Given the description of an element on the screen output the (x, y) to click on. 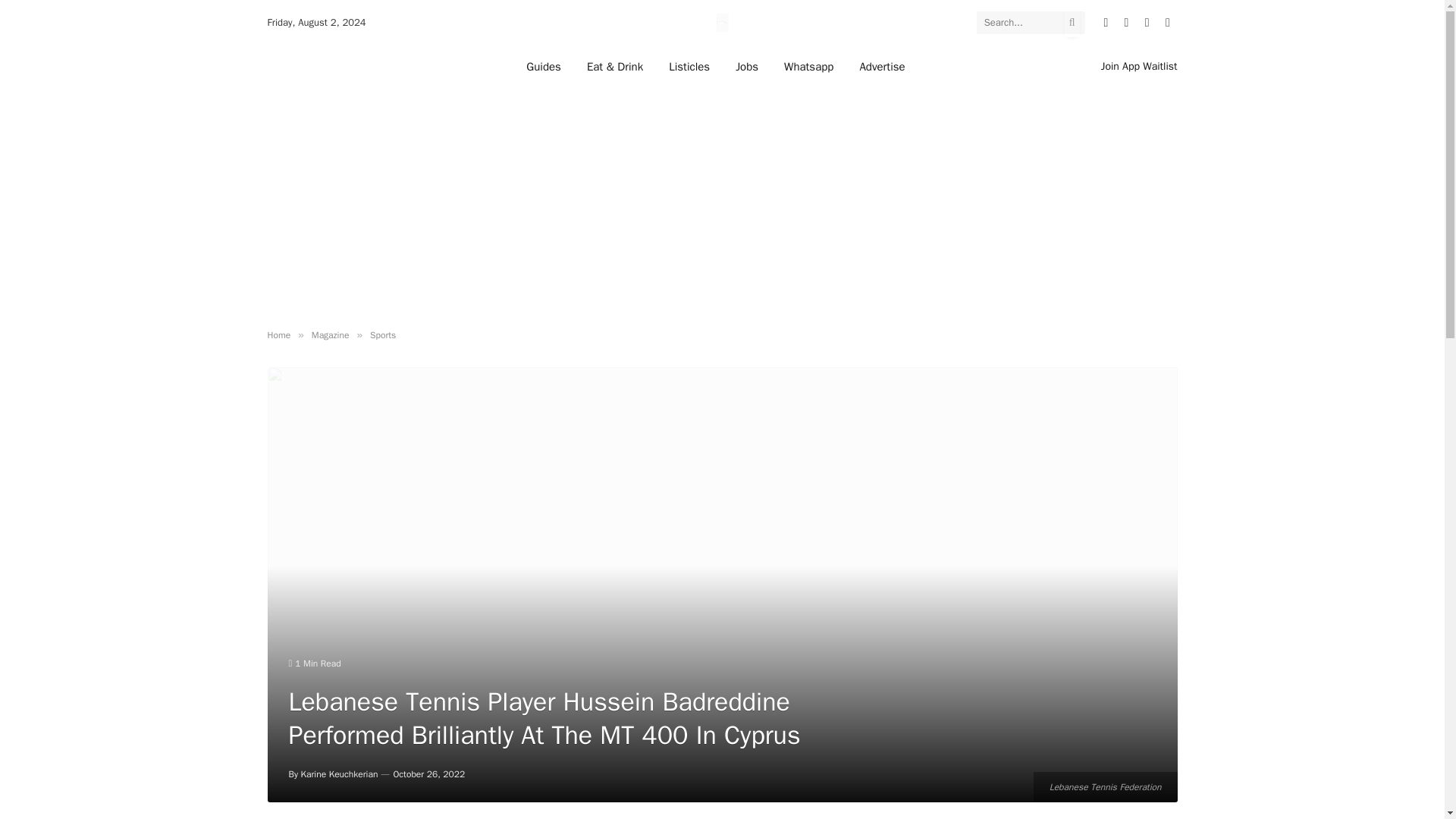
Sports (382, 335)
Posts by Karine Keuchkerian (339, 774)
Listicles (689, 65)
Jobs (746, 65)
Join App Waitlist (1138, 66)
Karine Keuchkerian (339, 774)
Magazine (330, 335)
Guides (543, 65)
Advertise (881, 65)
Home (277, 335)
Whatsapp (808, 65)
